Given the description of an element on the screen output the (x, y) to click on. 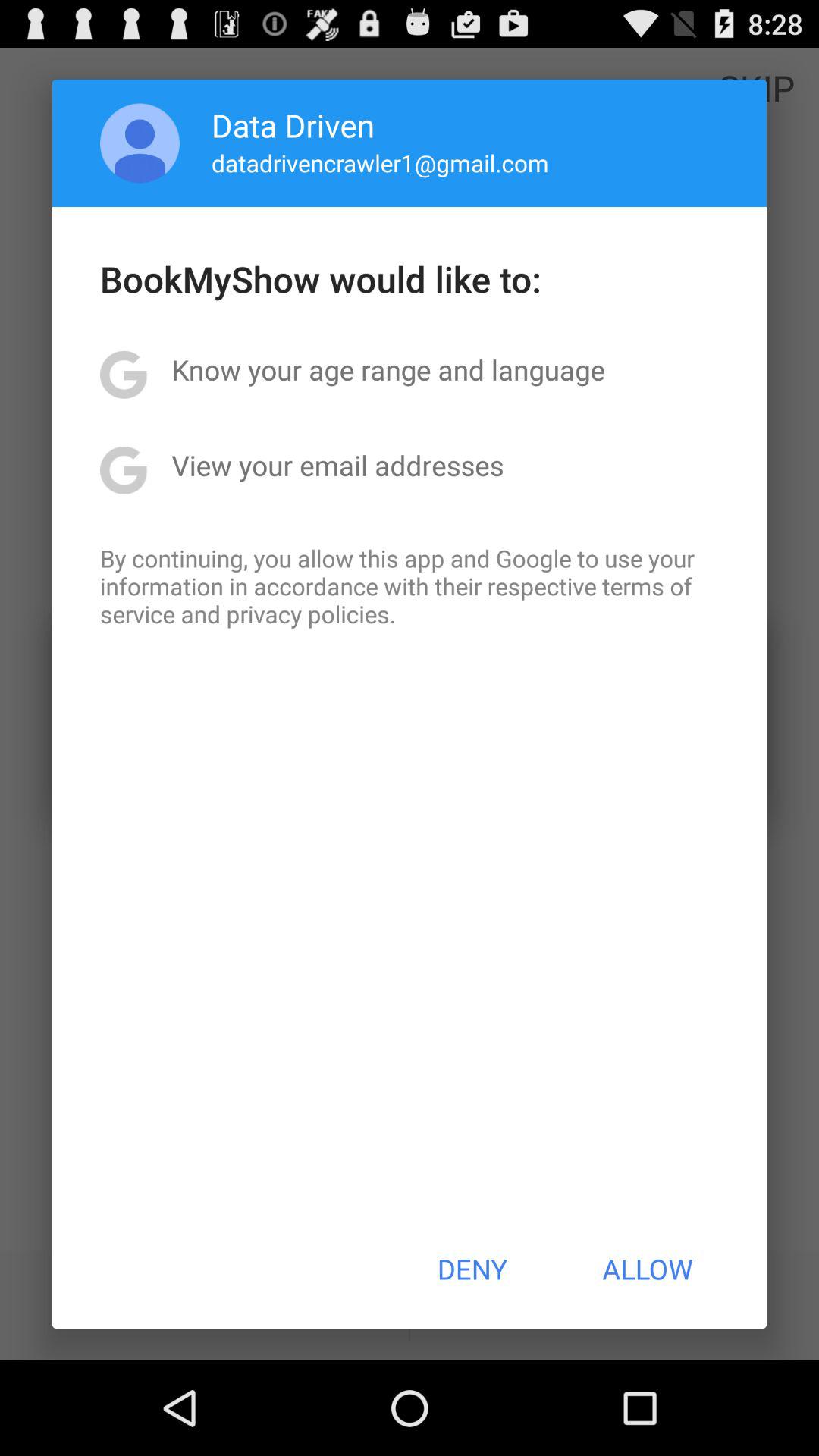
launch the item above the by continuing you icon (337, 465)
